Given the description of an element on the screen output the (x, y) to click on. 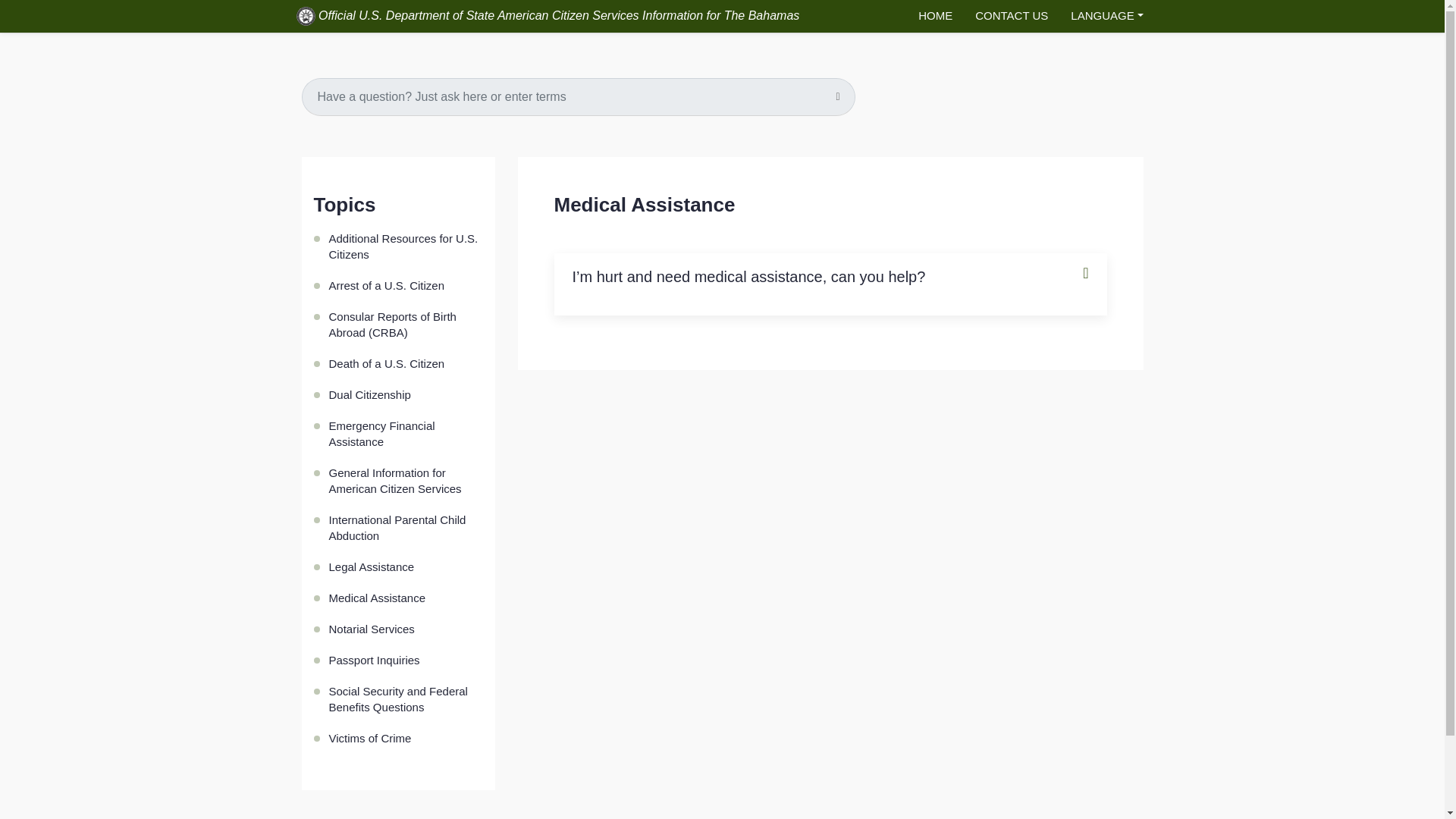
LANGUAGE (1106, 16)
Additional Resources for U.S. Citizens (406, 246)
Medical Assistance (406, 597)
Dual Citizenship (406, 394)
Death of a U.S. Citizen (406, 363)
Victims of Crime (406, 737)
CONTACT US (1011, 16)
Notarial Services (406, 628)
HOME (935, 16)
Emergency Financial Assistance (406, 433)
Legal Assistance (406, 566)
International Parental Child Abduction (406, 527)
Passport Inquiries (406, 659)
General Information for American Citizen Services (406, 480)
Arrest of a U.S. Citizen (406, 285)
